Given the description of an element on the screen output the (x, y) to click on. 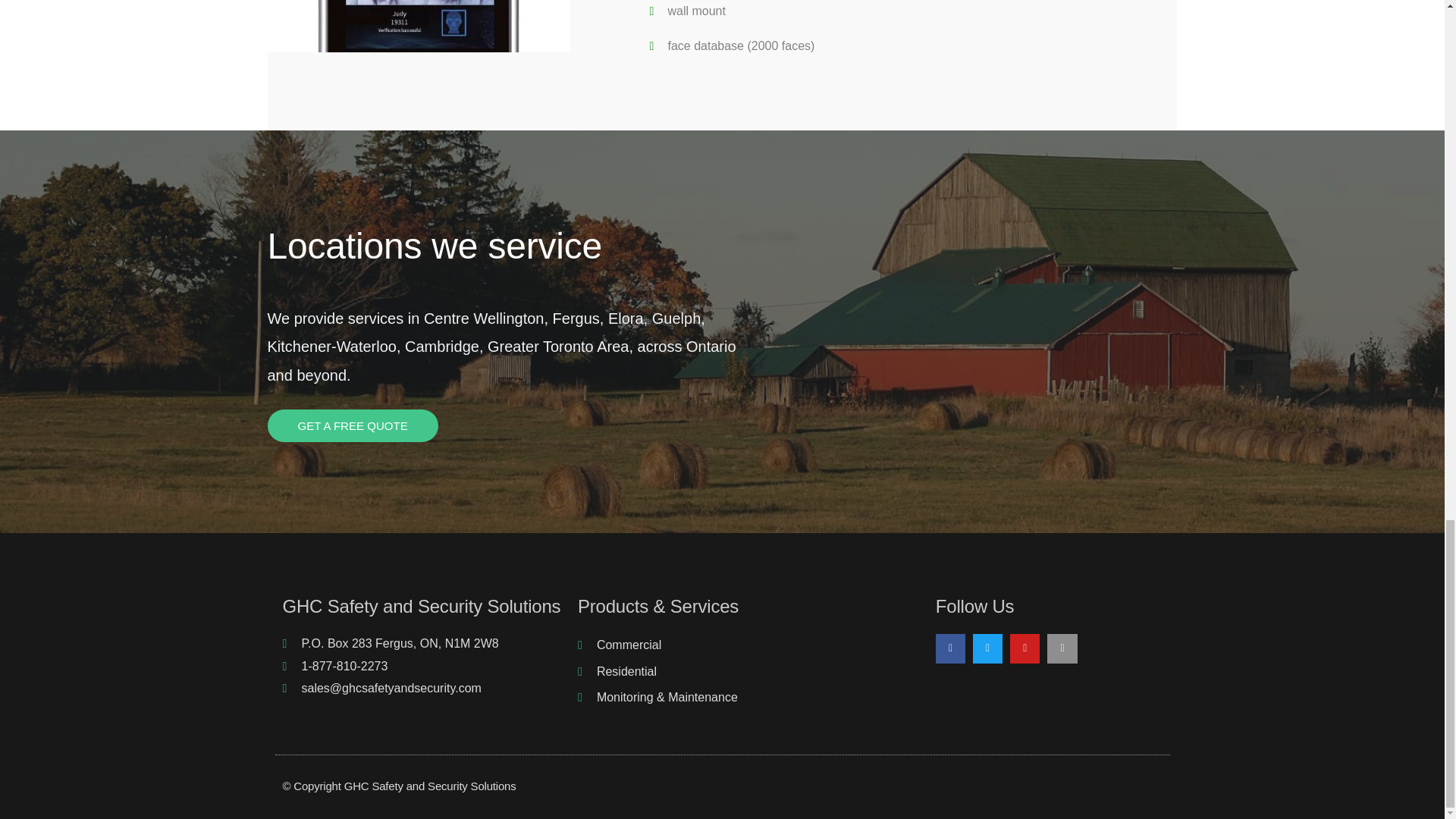
GET A FREE QUOTE (352, 425)
Commercial (719, 644)
Residential (719, 671)
